Given the description of an element on the screen output the (x, y) to click on. 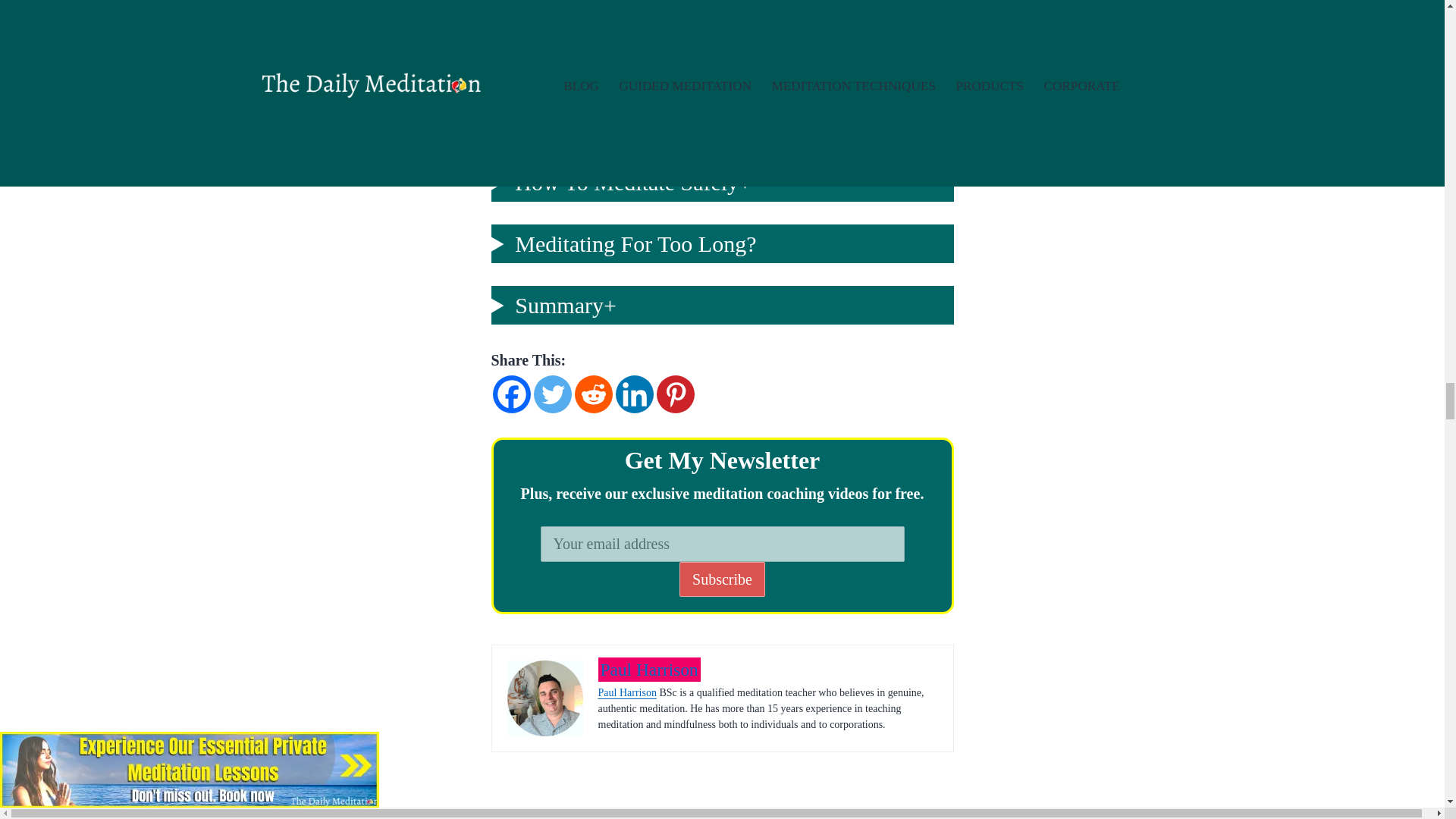
Subscribe (722, 579)
